Given the description of an element on the screen output the (x, y) to click on. 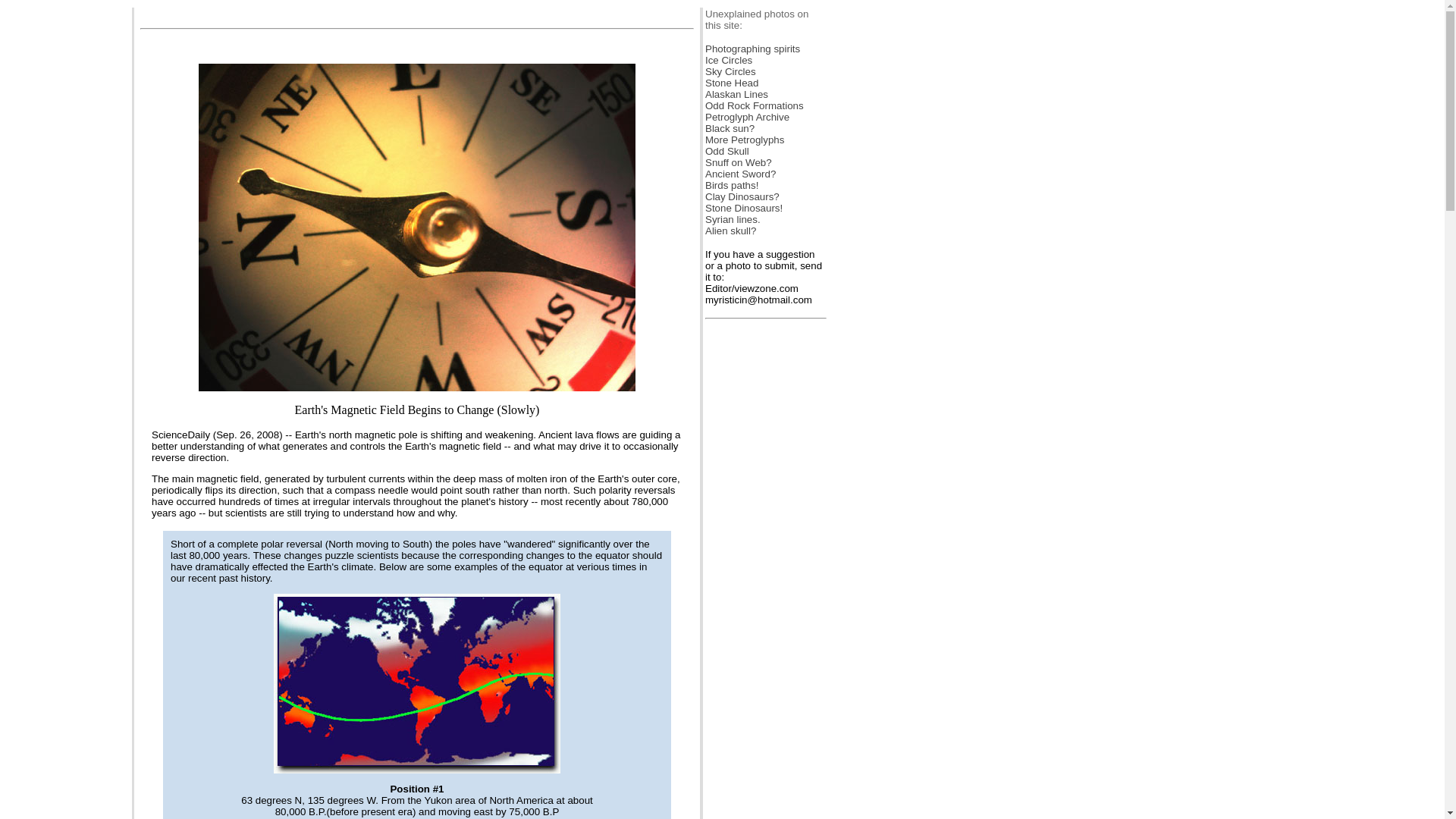
Alien skull? (729, 230)
Birds paths! (731, 184)
Ancient Sword? (740, 173)
Stone Head (731, 82)
Syrian lines. (732, 219)
Stone Dinosaurs! (743, 207)
Petroglyph Archive (746, 116)
Odd Rock Formations (753, 105)
Alaskan Lines (736, 93)
More Petroglyphs (744, 139)
Odd Skull (726, 151)
Photographing spirits (751, 48)
Ice Circles (728, 60)
Snuff on Web? (737, 162)
Black sun? (729, 128)
